Given the description of an element on the screen output the (x, y) to click on. 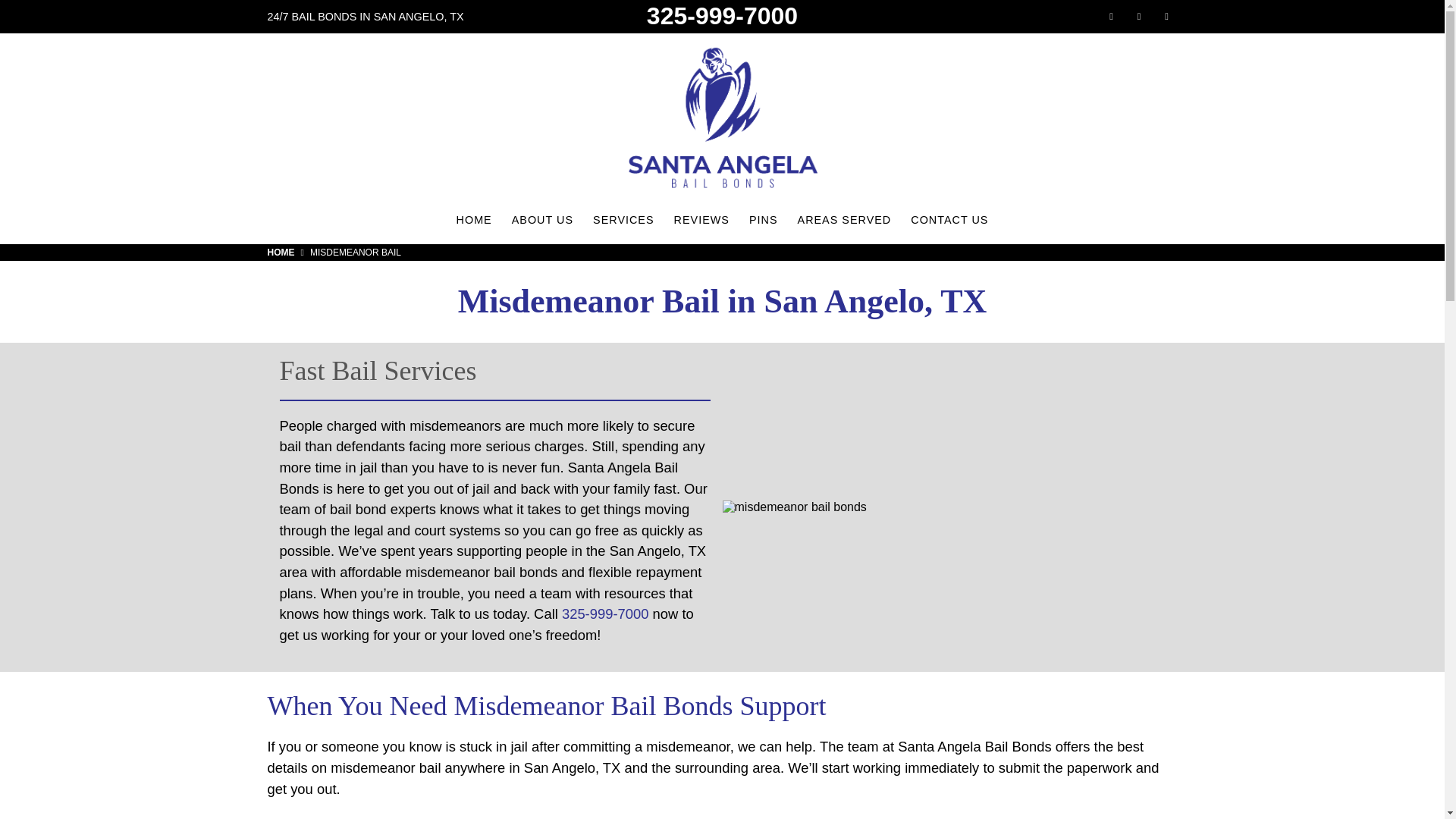
PINS (763, 219)
CONTACT US (949, 219)
HOME (287, 252)
325-999-7000 (722, 16)
HOME (474, 219)
AREAS SERVED (844, 219)
ABOUT US (542, 219)
325-999-7000 (605, 613)
SERVICES (623, 219)
Go to Home (287, 252)
